Given the description of an element on the screen output the (x, y) to click on. 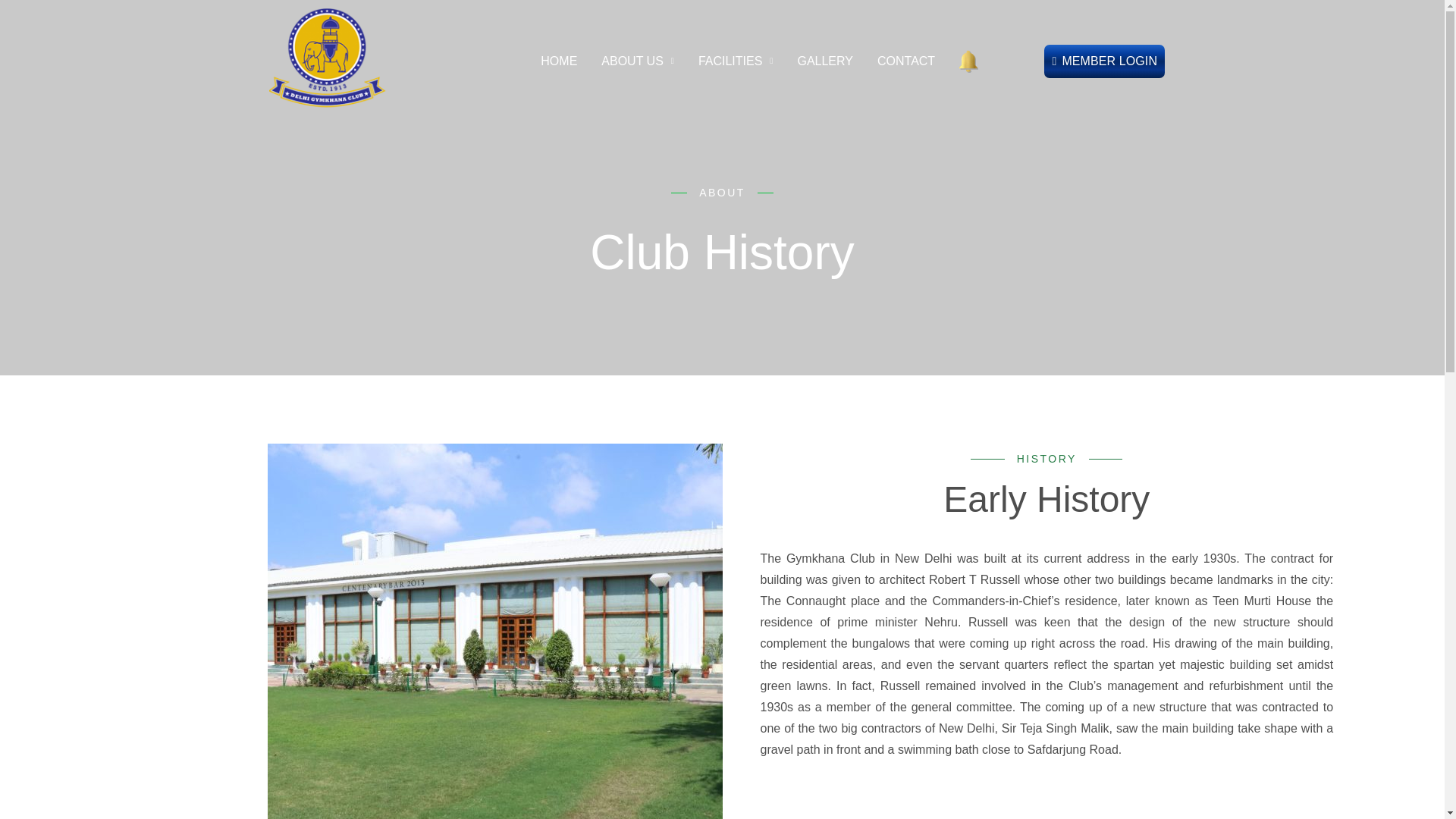
HOME (558, 61)
ABOUT US (637, 61)
FACILITIES (735, 61)
